Given the description of an element on the screen output the (x, y) to click on. 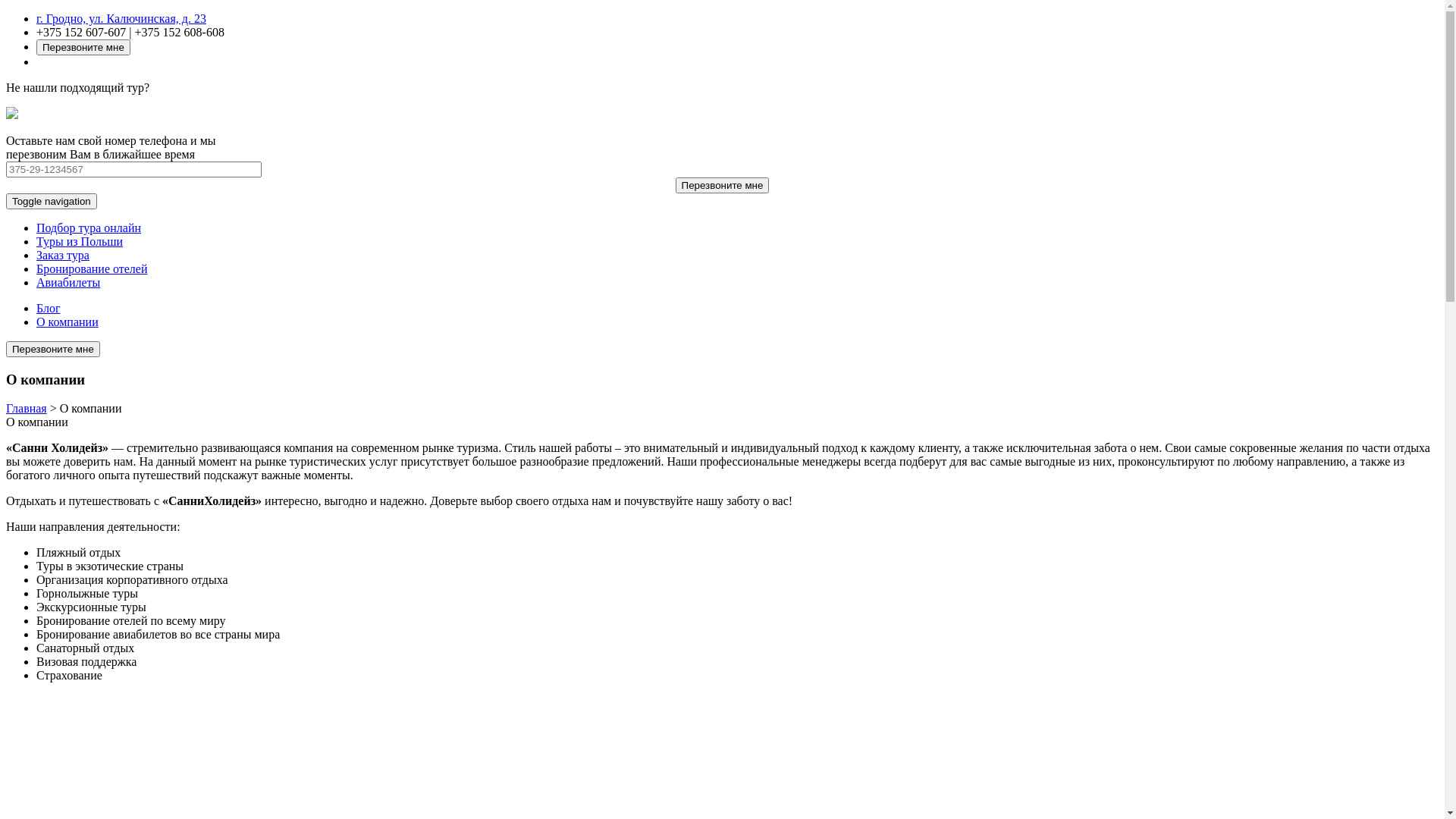
Toggle navigation Element type: text (51, 201)
